Given the description of an element on the screen output the (x, y) to click on. 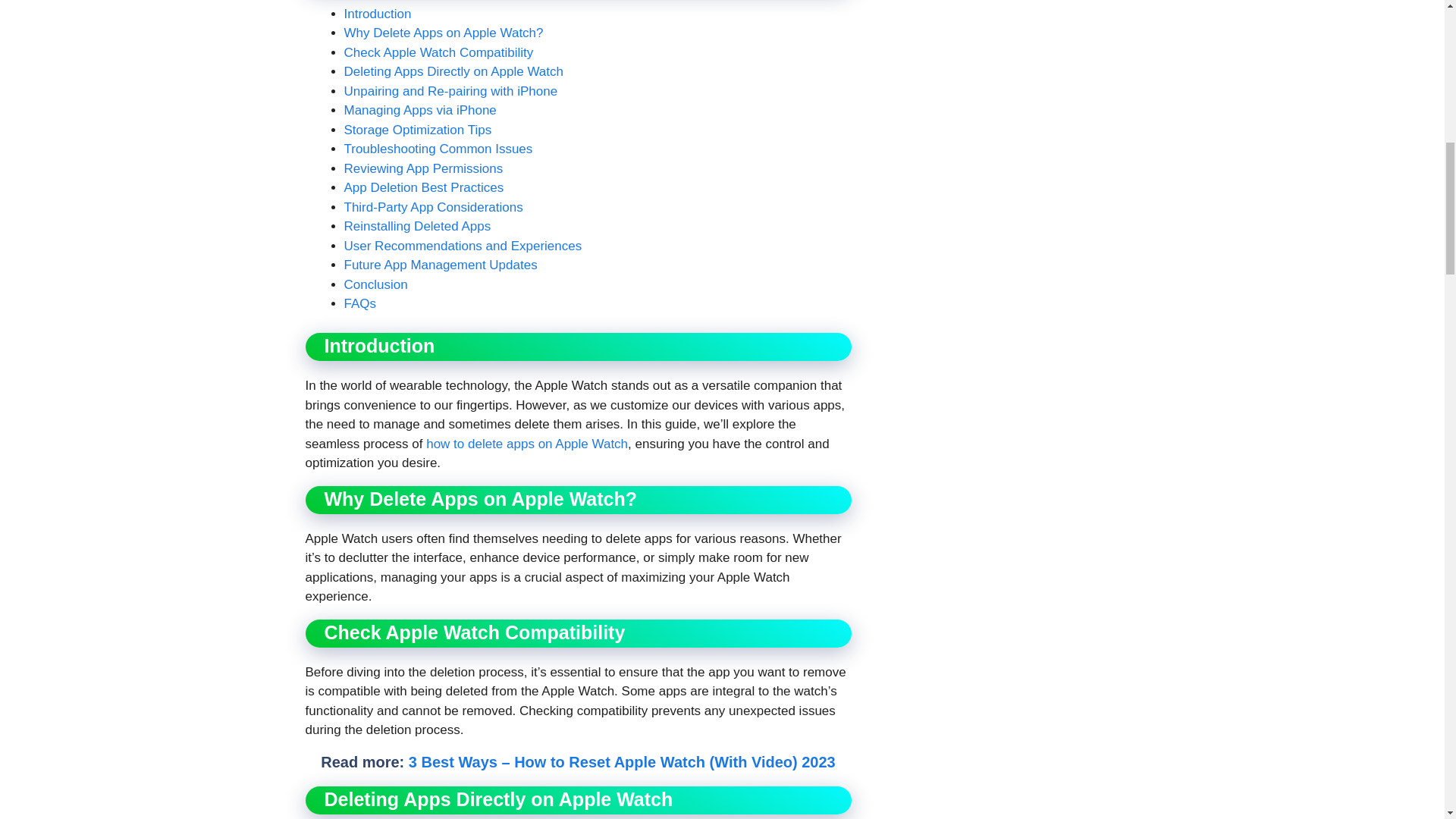
Managing Apps via iPhone (419, 110)
Third-Party App Considerations (432, 206)
Unpairing and Re-pairing with iPhone (450, 91)
Deleting Apps Directly on Apple Watch (453, 71)
Why Delete Apps on Apple Watch? (443, 32)
Troubleshooting Common Issues (437, 148)
Reviewing App Permissions (423, 168)
App Deletion Best Practices (423, 187)
Scroll back to top (1406, 720)
Check Apple Watch Compatibility (438, 52)
Reinstalling Deleted Apps (417, 226)
User Recommendations and Experiences (462, 246)
Future App Management Updates (440, 264)
Storage Optimization Tips (417, 129)
Introduction (377, 13)
